Given the description of an element on the screen output the (x, y) to click on. 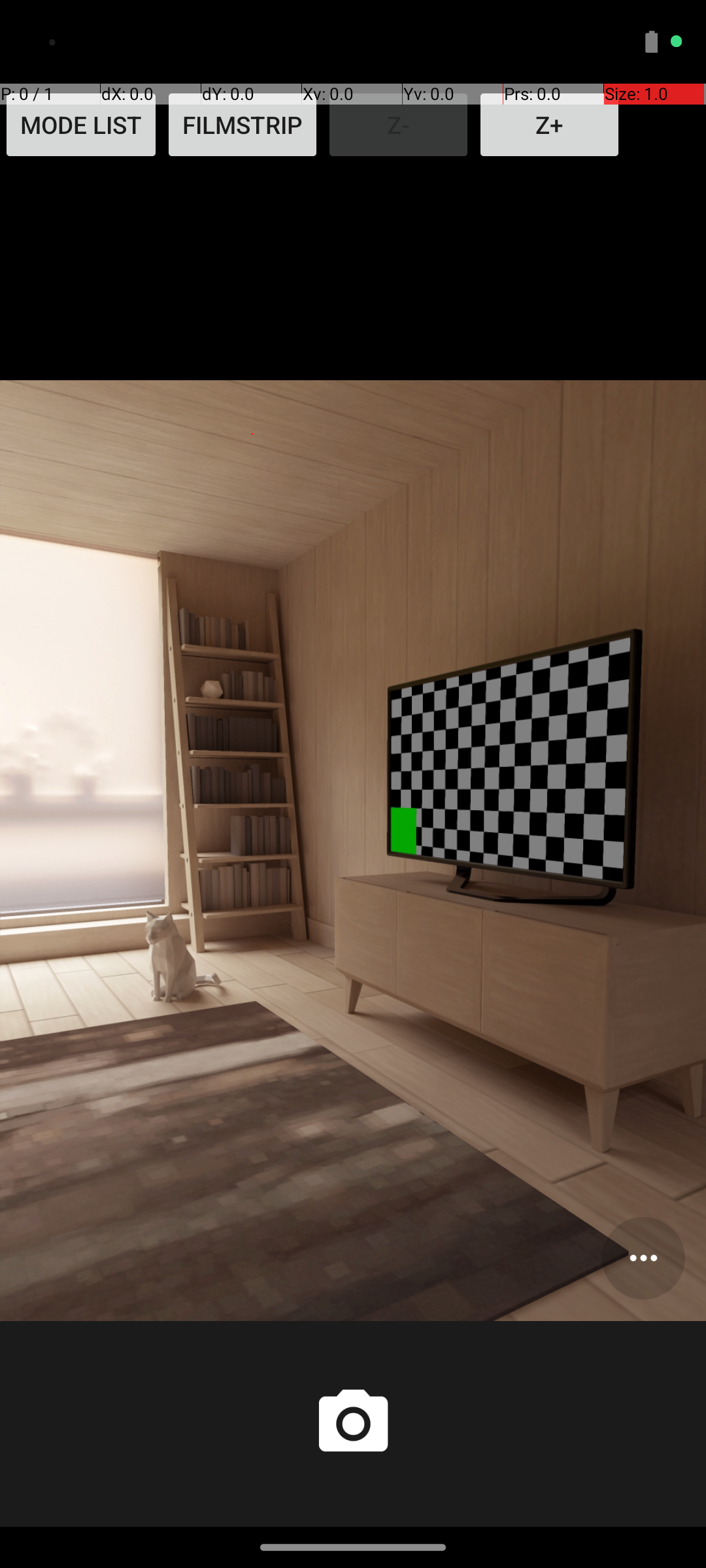
Options Element type: android.widget.LinearLayout (643, 1258)
Shutter Element type: android.widget.ImageView (353, 1423)
MODE LIST Element type: android.widget.Button (81, 124)
FILMSTRIP Element type: android.widget.Button (242, 124)
Z- Element type: android.widget.Button (397, 124)
Z+ Element type: android.widget.Button (548, 124)
